Given the description of an element on the screen output the (x, y) to click on. 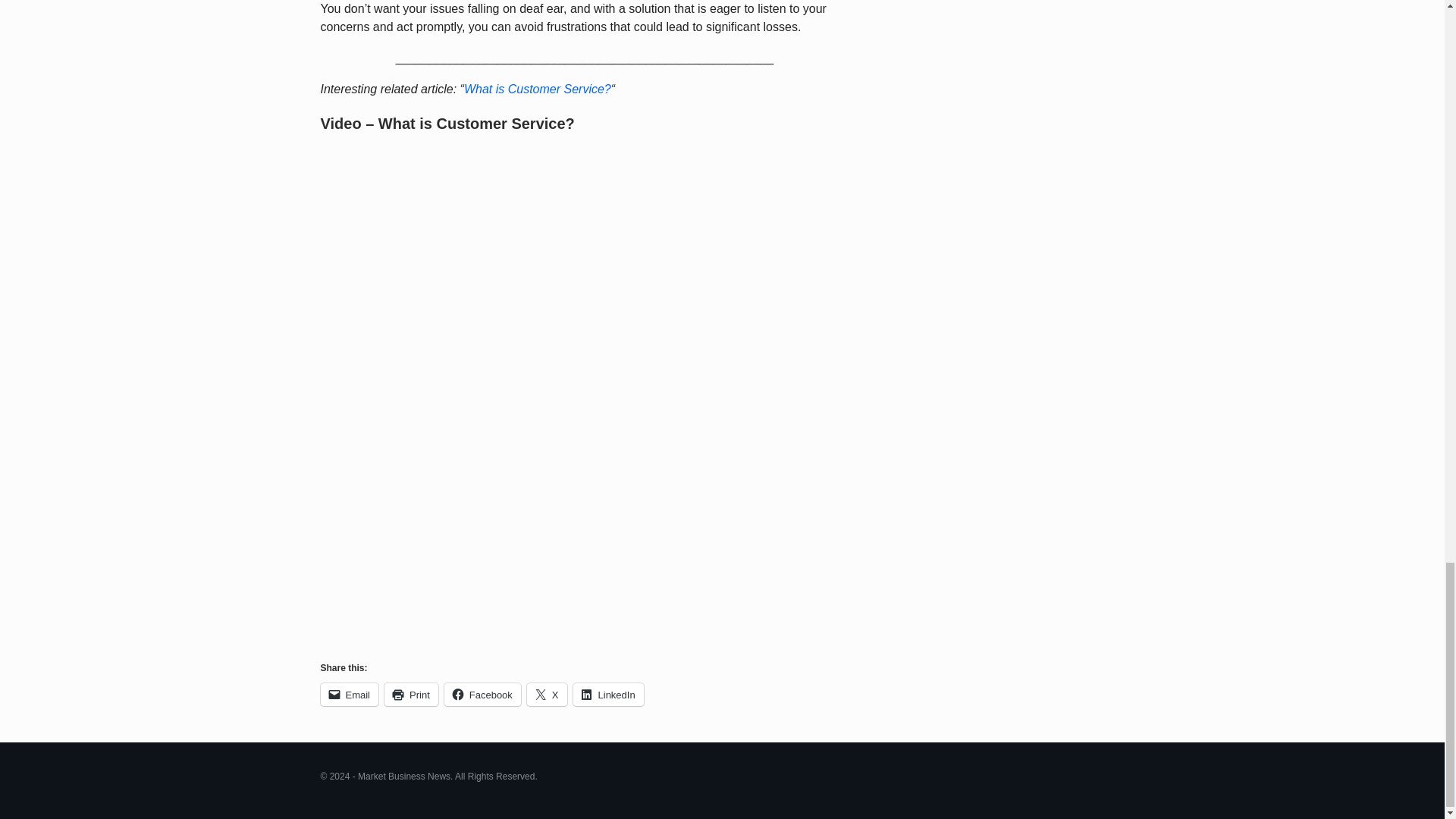
Click to share on LinkedIn (608, 694)
Click to email a link to a friend (349, 694)
LinkedIn (608, 694)
What is Customer Service? (537, 88)
Click to share on X (547, 694)
Click to share on Facebook (482, 694)
Facebook (482, 694)
Print (411, 694)
Click to print (411, 694)
X (547, 694)
Email (349, 694)
